Given the description of an element on the screen output the (x, y) to click on. 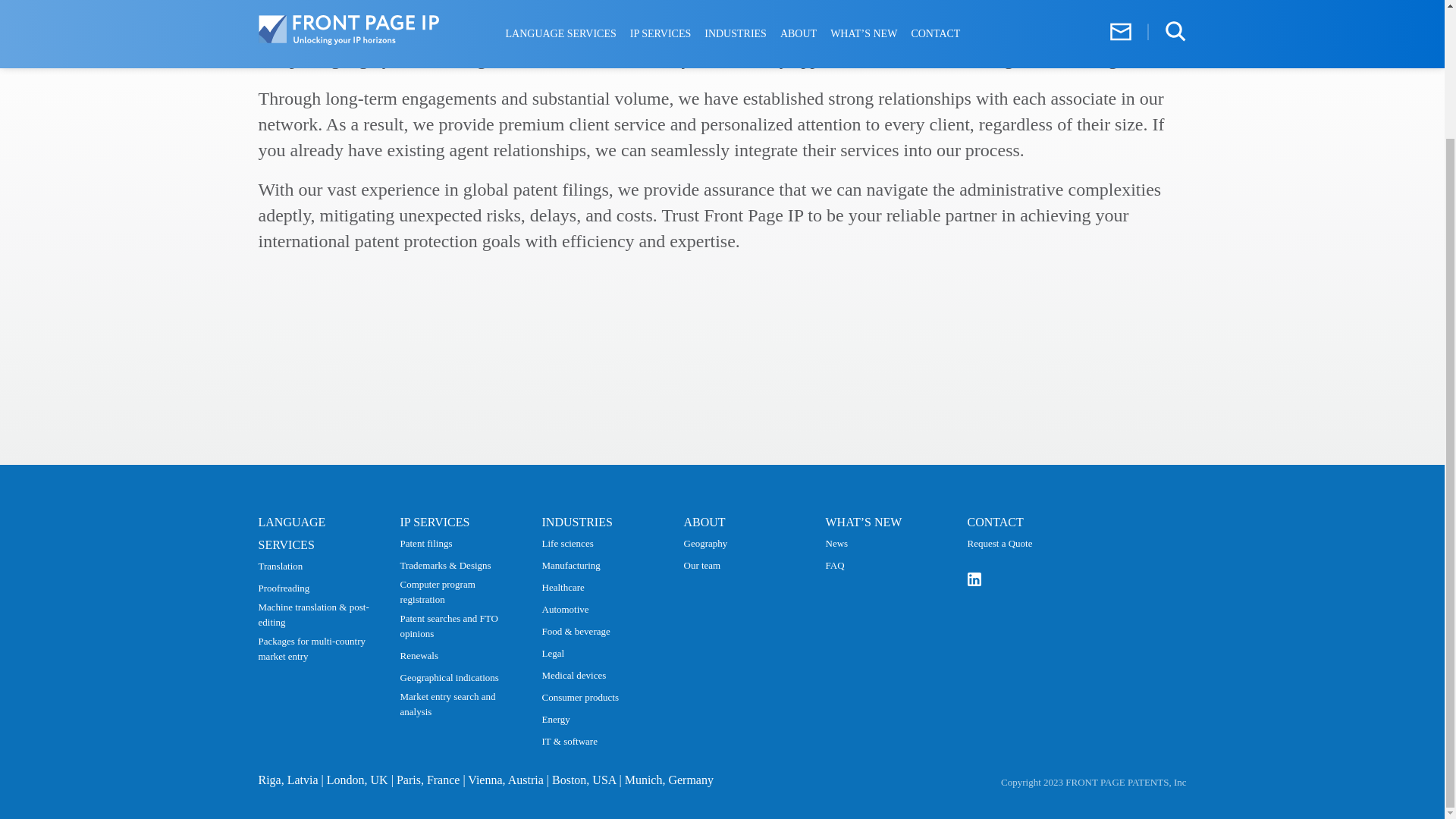
Proofreading (282, 588)
Translation (279, 566)
LANGUAGE SERVICES (290, 533)
